Given the description of an element on the screen output the (x, y) to click on. 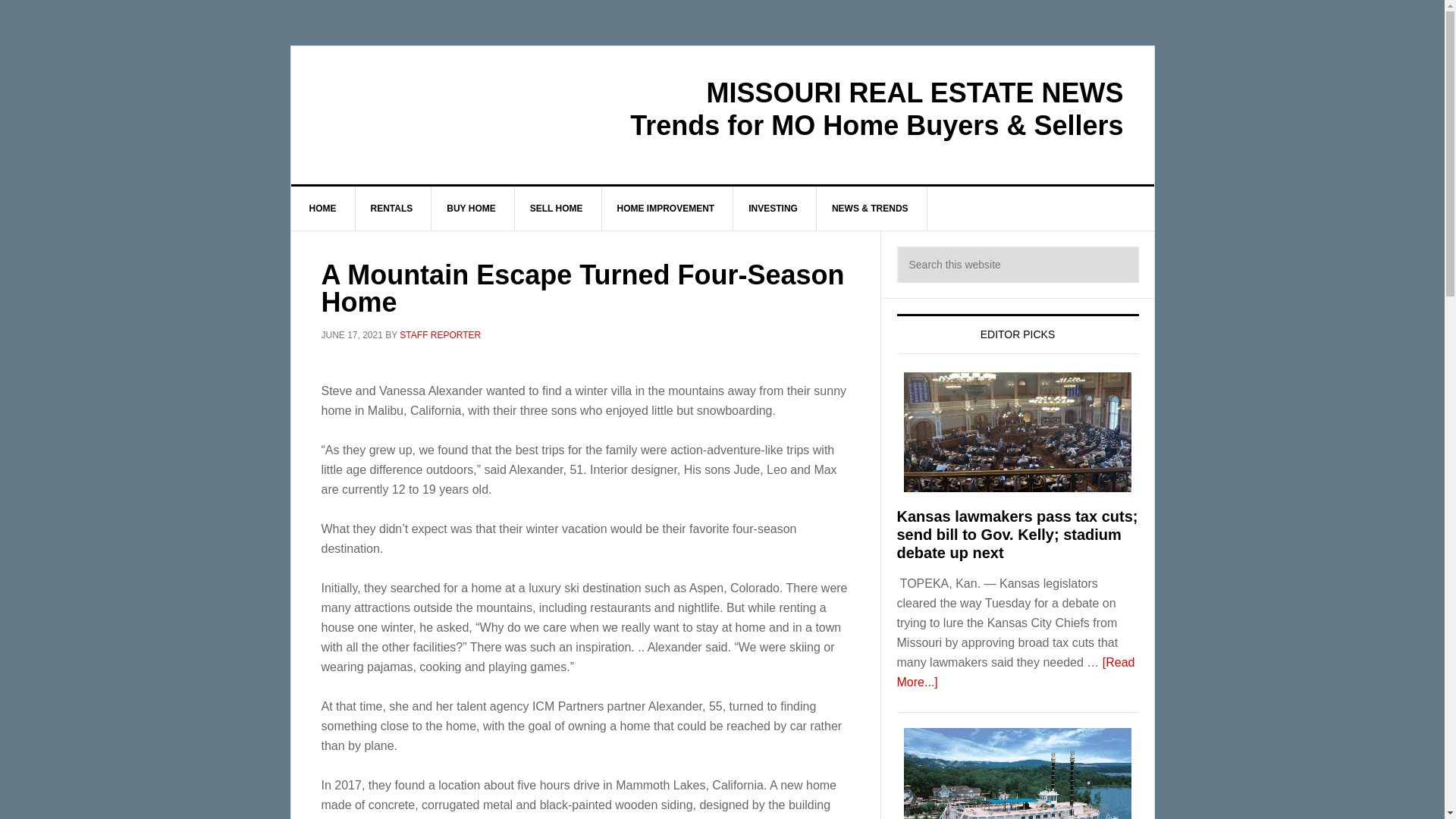
STAFF REPORTER (439, 335)
INVESTING (773, 208)
BUY HOME (470, 208)
HOME IMPROVEMENT (665, 208)
HOME (323, 208)
MISSOURI REAL ESTATE NEWS (419, 110)
SELL HOME (557, 208)
RENTALS (391, 208)
